Given the description of an element on the screen output the (x, y) to click on. 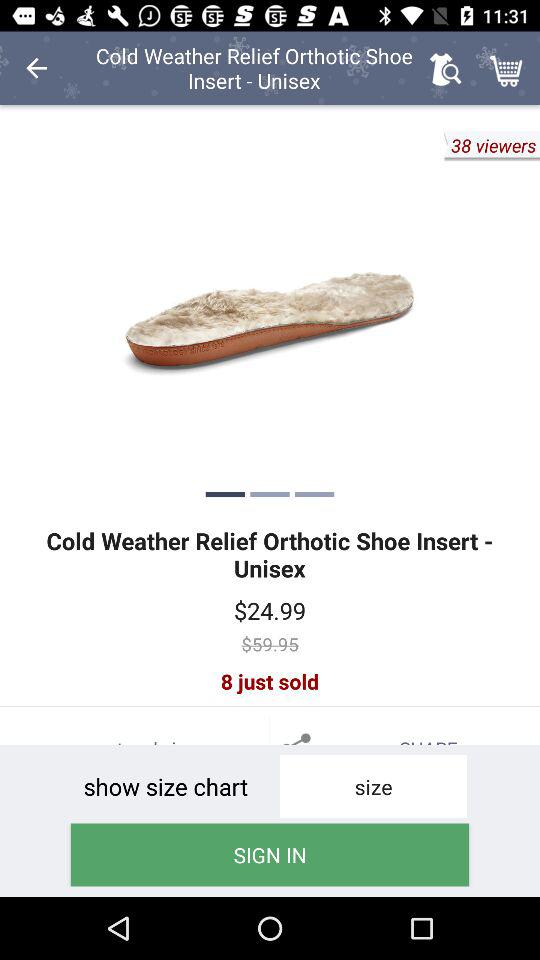
image of the product (270, 309)
